Given the description of an element on the screen output the (x, y) to click on. 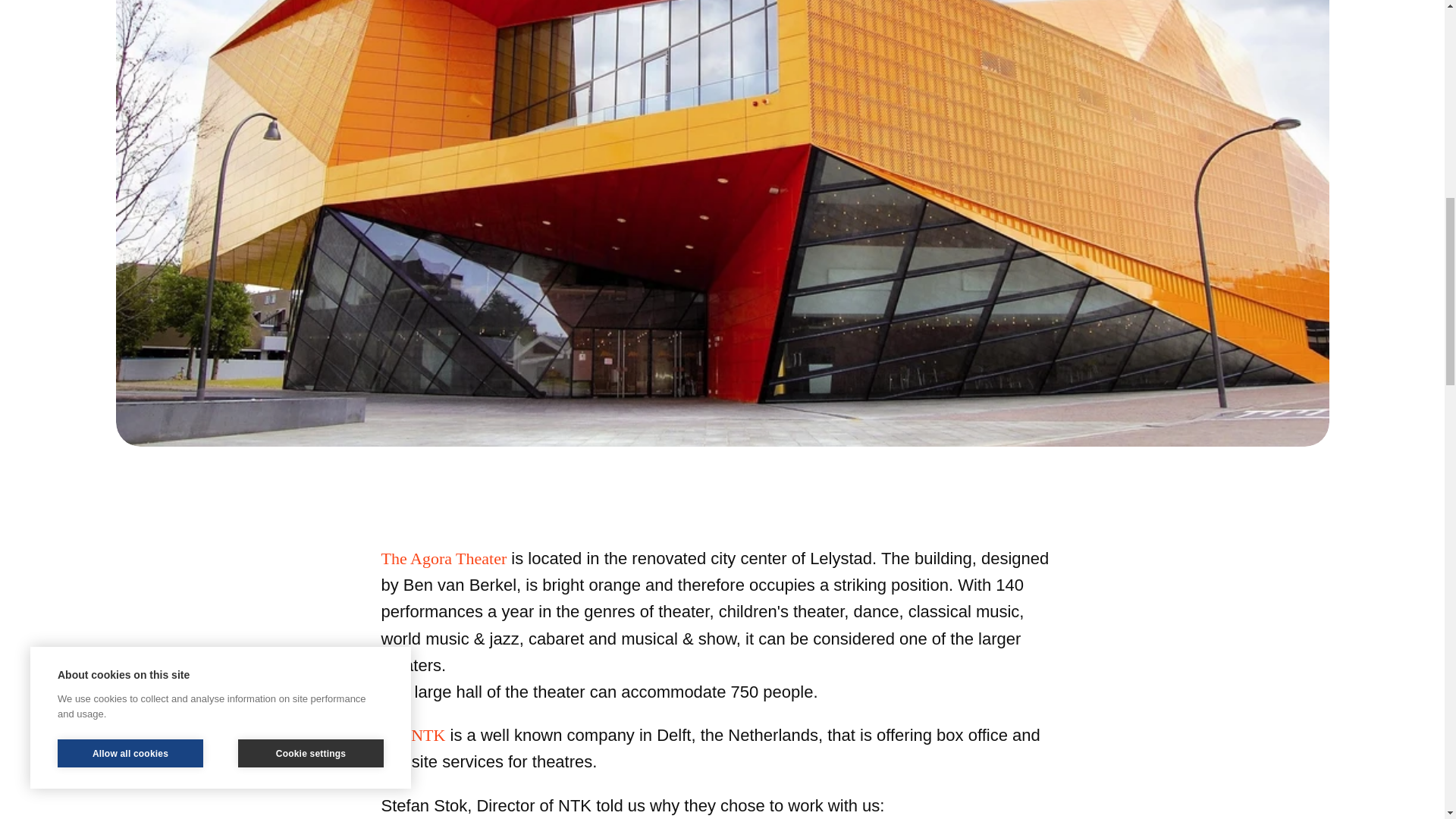
The Agora Theater (443, 558)
The NTK (412, 734)
